Given the description of an element on the screen output the (x, y) to click on. 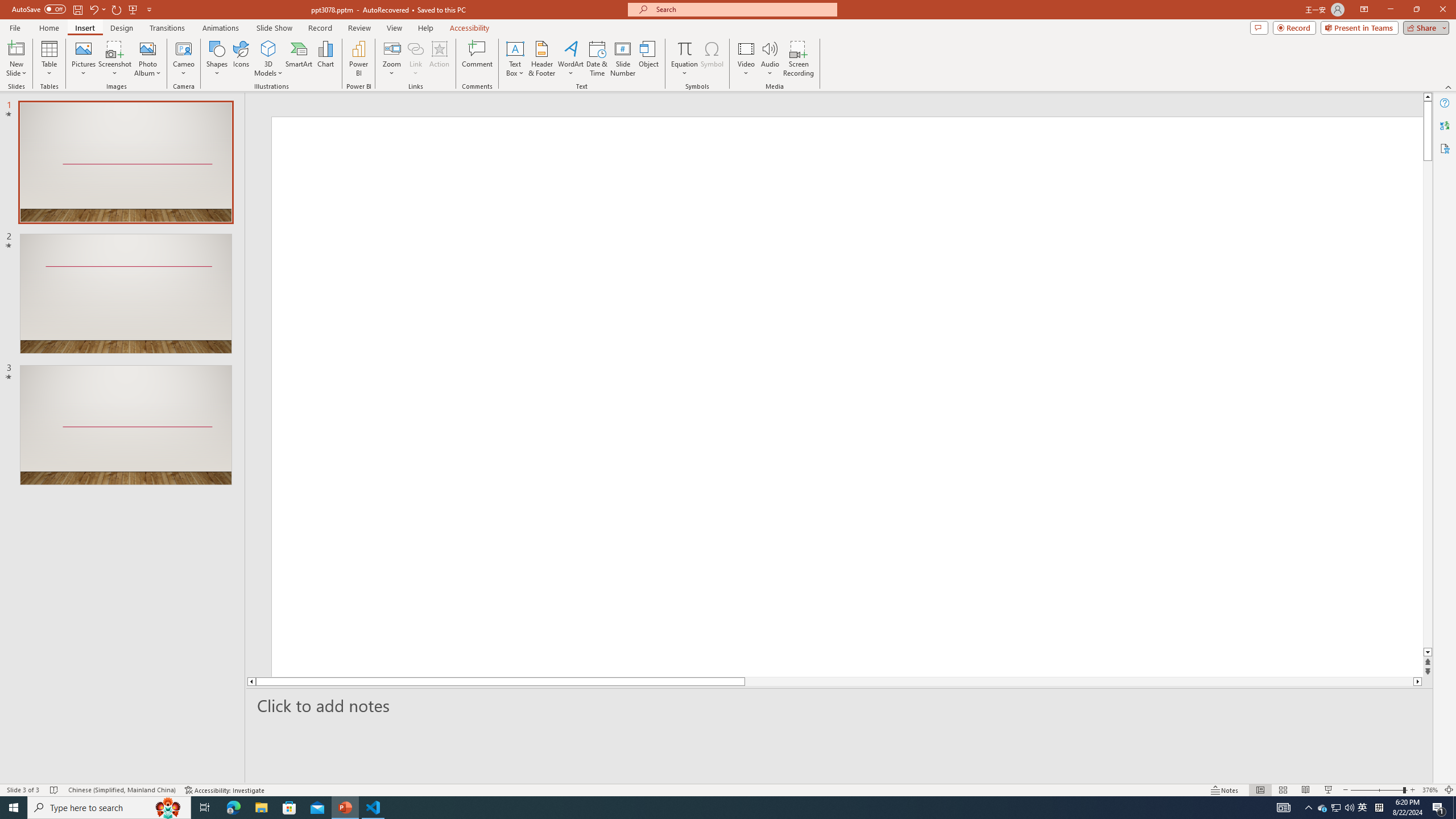
Zoom 376% (1430, 790)
New Photo Album... (147, 48)
Power BI (358, 58)
Date & Time... (596, 58)
